Given the description of an element on the screen output the (x, y) to click on. 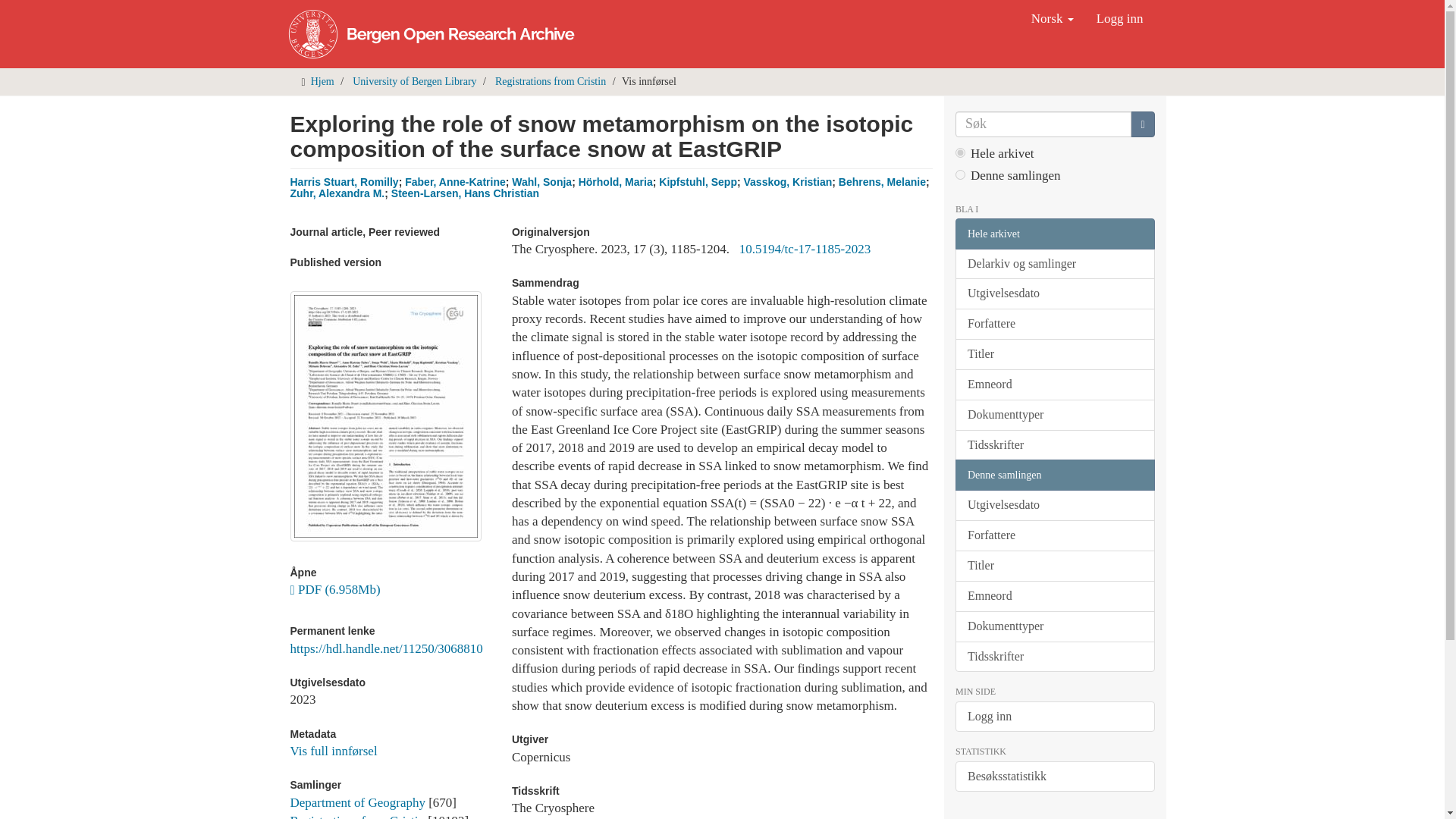
Registrations from Cristin (357, 816)
Hjem (322, 81)
Harris Stuart, Romilly (343, 182)
Behrens, Melanie (882, 182)
Wahl, Sonja (542, 182)
Registrations from Cristin (550, 81)
Kipfstuhl, Sepp (697, 182)
Faber, Anne-Katrine (454, 182)
Zuhr, Alexandra M. (336, 193)
Logg inn (1119, 18)
